Given the description of an element on the screen output the (x, y) to click on. 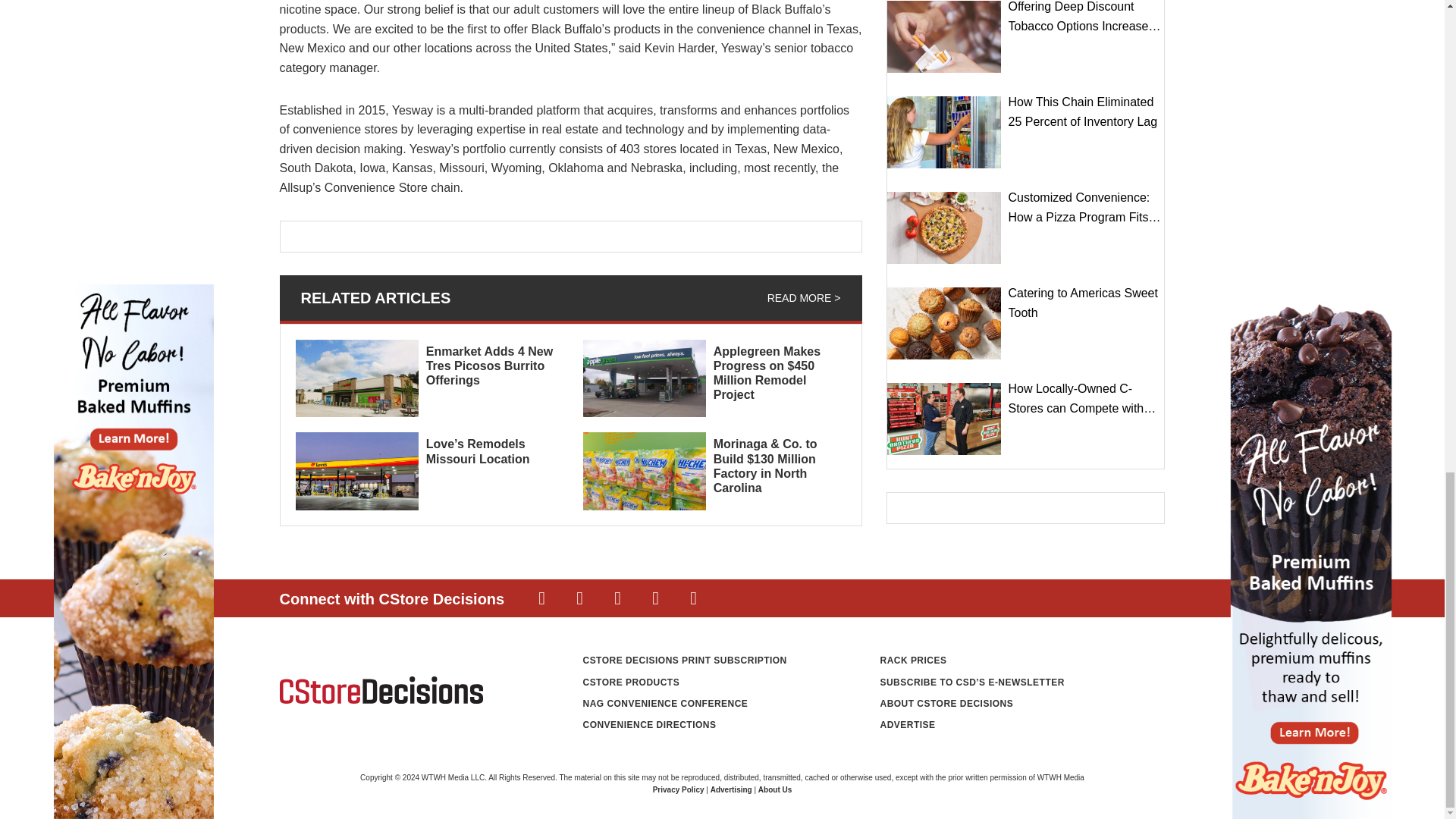
How This Chain Eliminated 25 Percent of Inventory Lag (943, 132)
How Locally-Owned C-Stores can Compete with National Chains (943, 419)
Catering to Americas Sweet Tooth (943, 323)
Offering Deep Discount Tobacco Options Increases Revenue (943, 36)
